Given the description of an element on the screen output the (x, y) to click on. 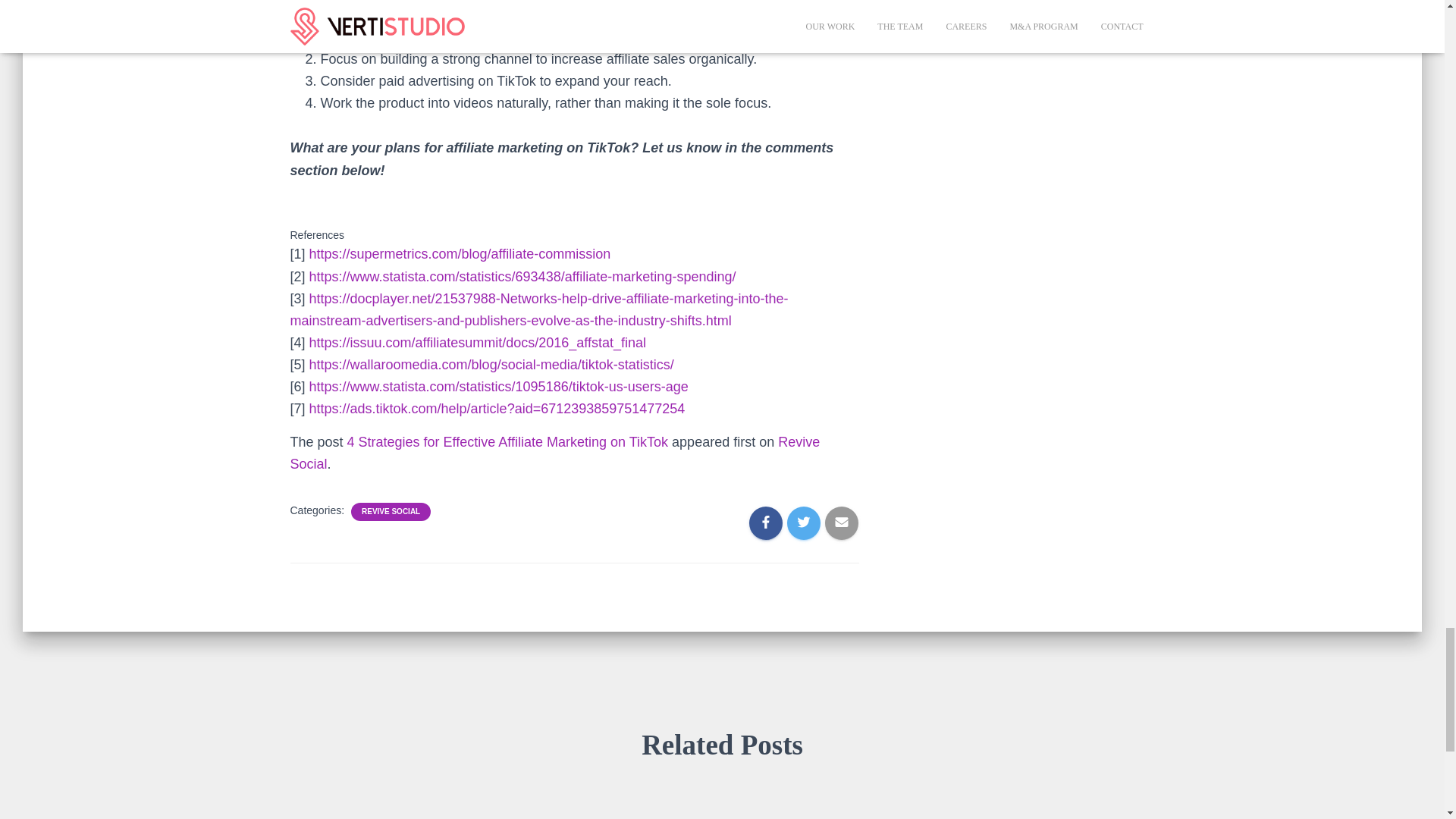
4 Strategies for Effective Affiliate Marketing on TikTok (507, 441)
REVIVE SOCIAL (390, 511)
Revive Social (554, 452)
